Given the description of an element on the screen output the (x, y) to click on. 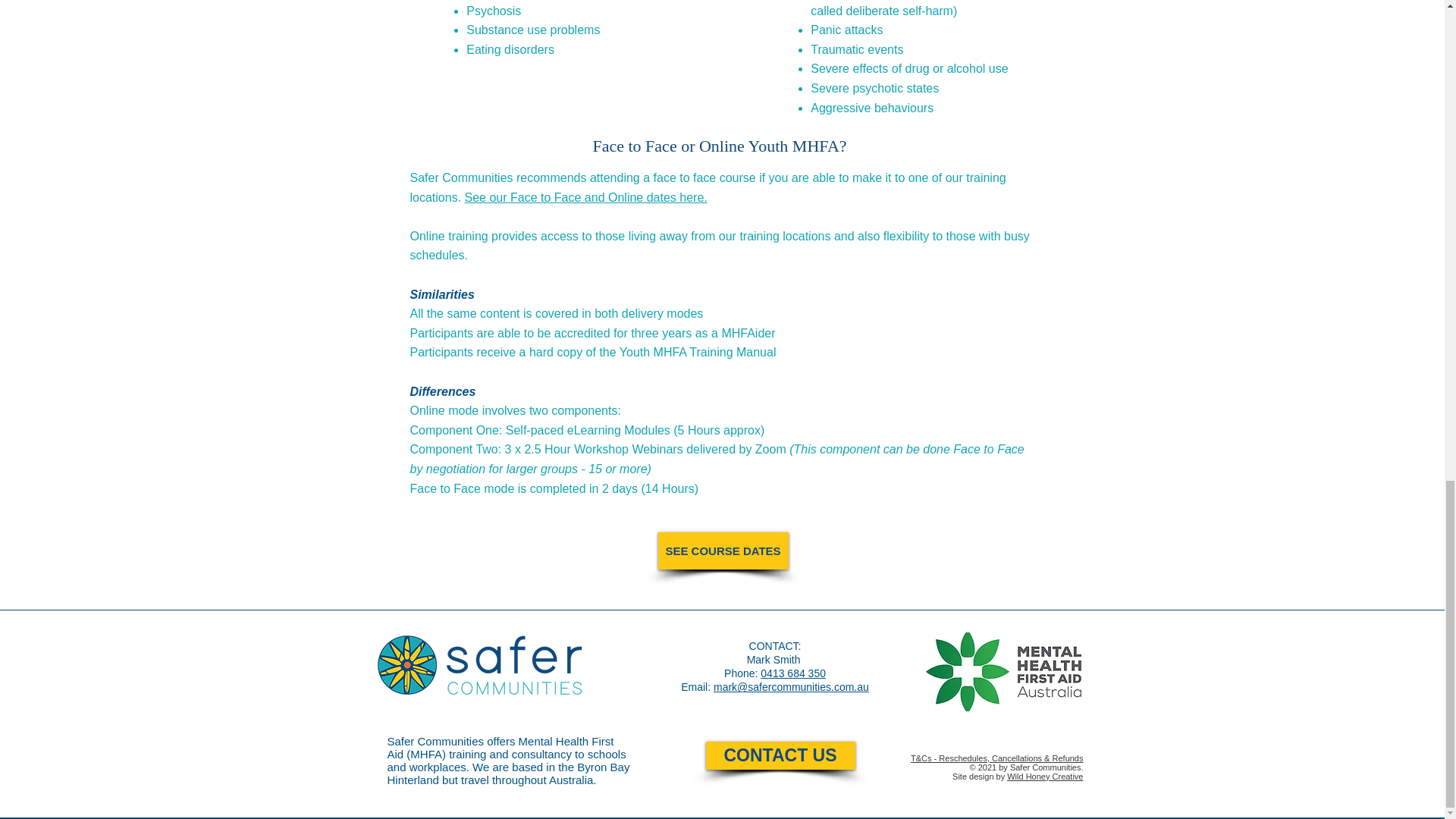
0413 684 350 (792, 673)
SEE COURSE DATES (723, 550)
CONTACT US (779, 755)
See our Face to Face and Online dates here. (585, 196)
